Given the description of an element on the screen output the (x, y) to click on. 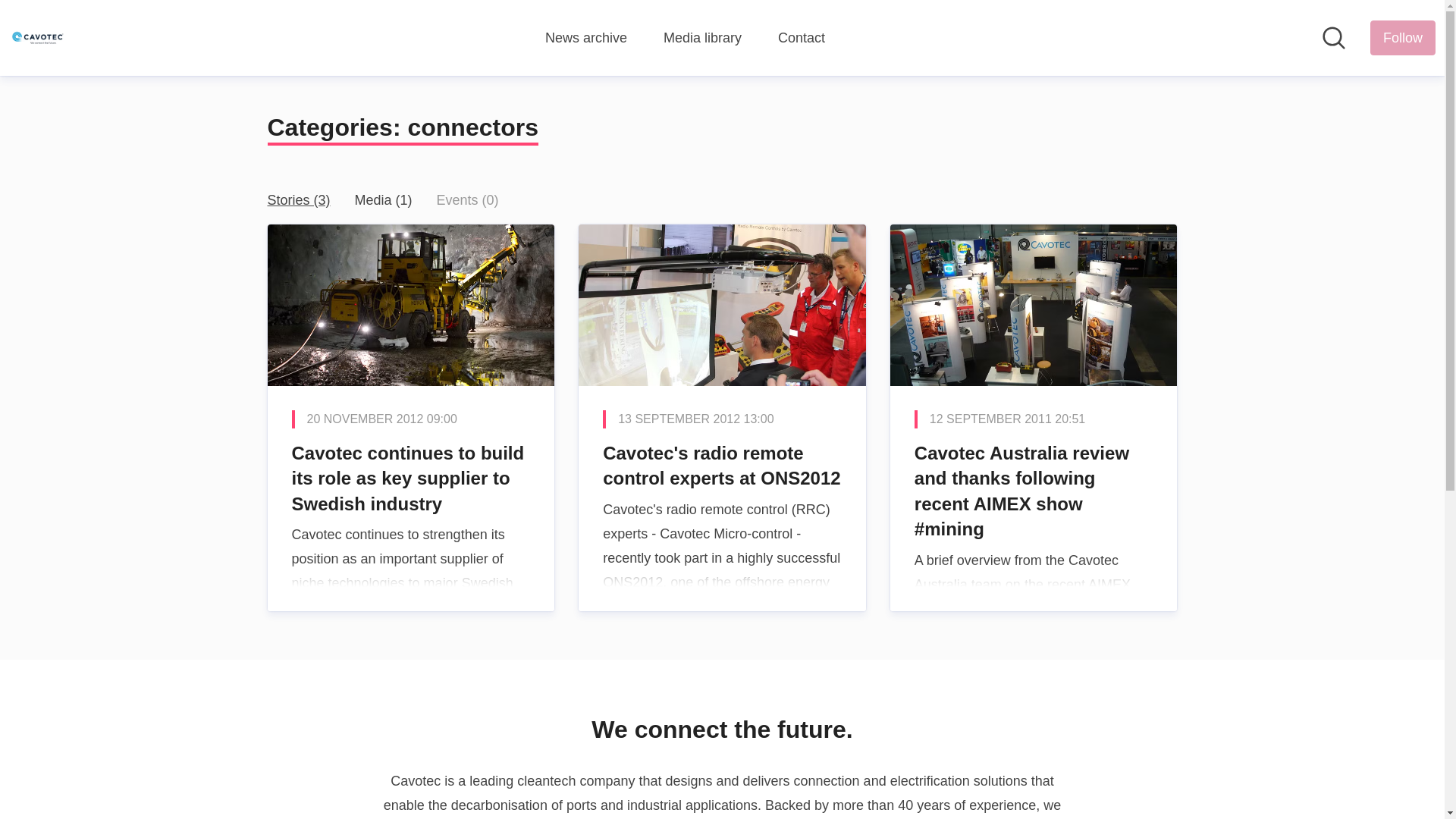
News archive (585, 37)
Follow (1402, 37)
Search in newsroom (1333, 37)
Contact (801, 37)
Media library (702, 37)
